Given the description of an element on the screen output the (x, y) to click on. 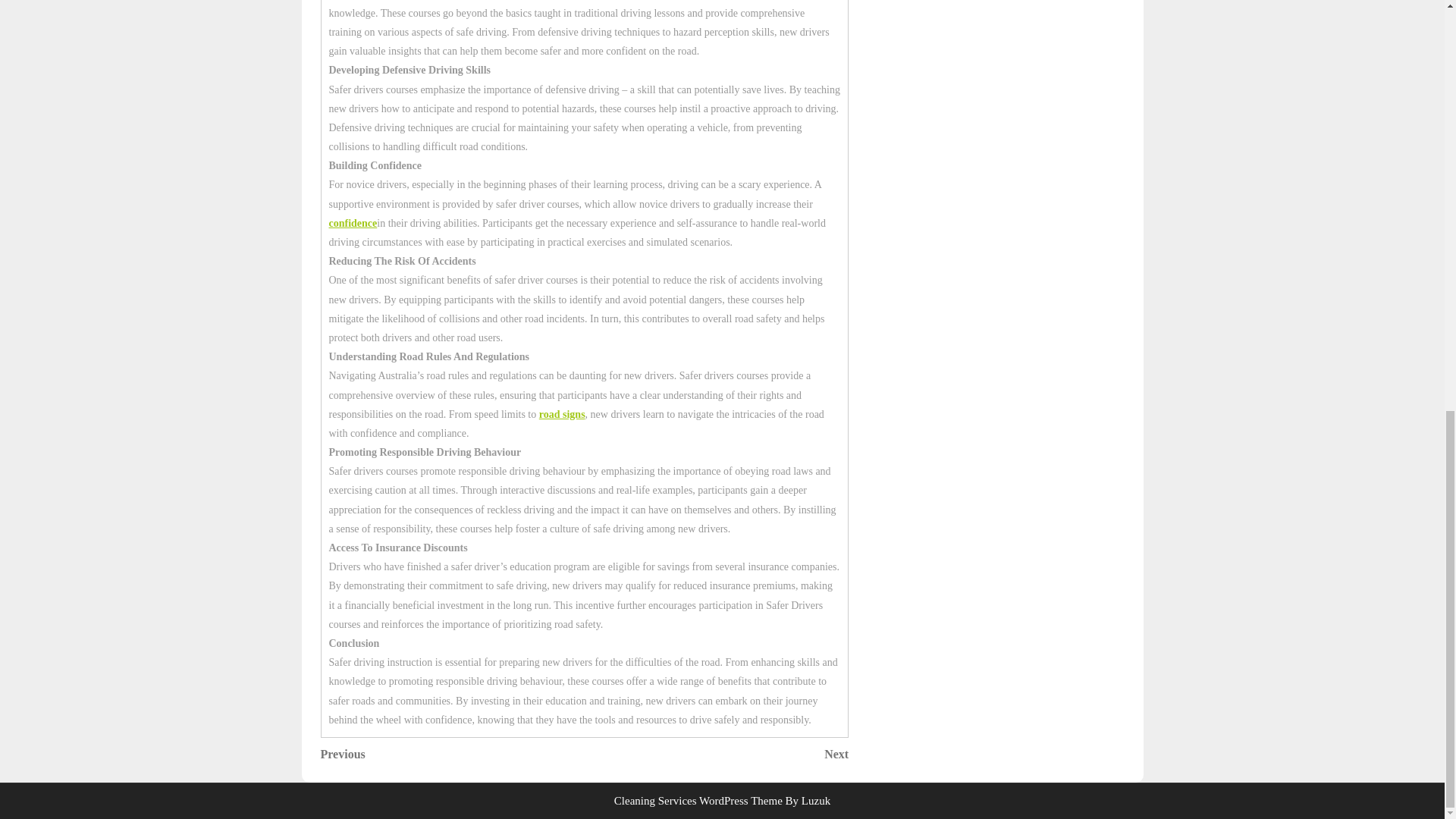
TOP (1397, 67)
Cleaning Services WordPress Theme (716, 754)
road signs (698, 800)
confidence (561, 414)
